Given the description of an element on the screen output the (x, y) to click on. 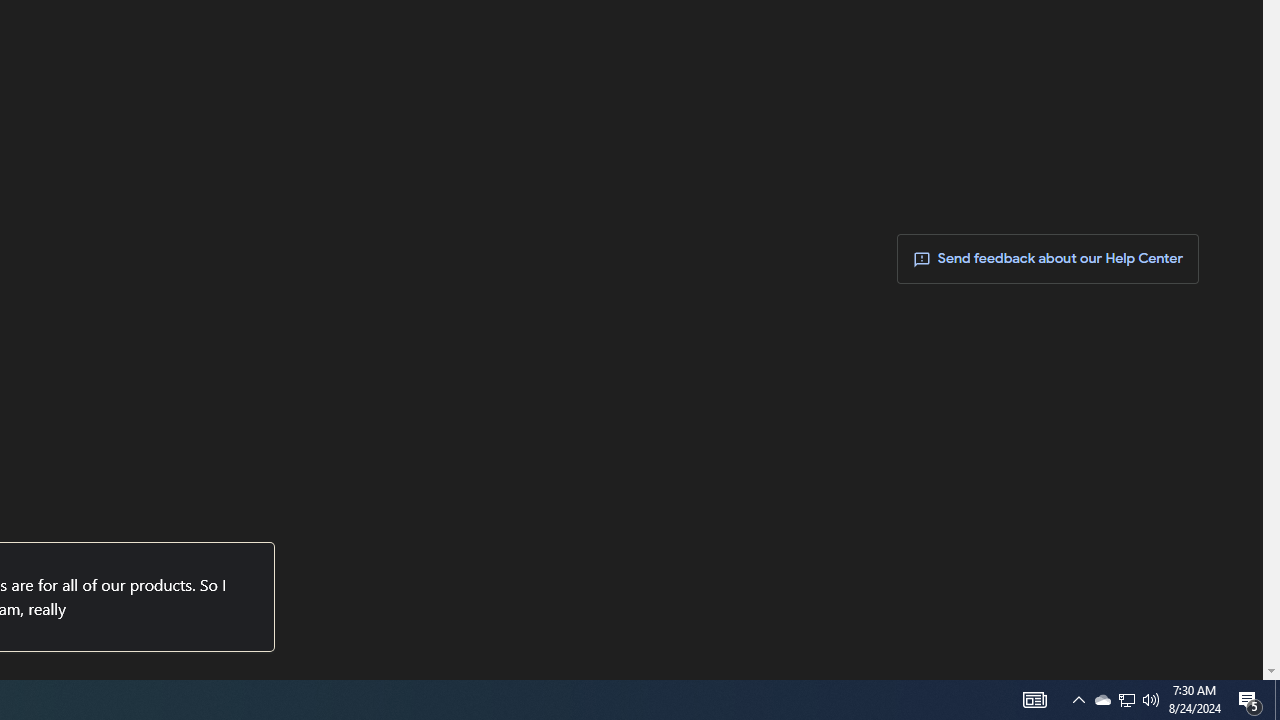
 Send feedback about our Help Center (1048, 259)
